Given the description of an element on the screen output the (x, y) to click on. 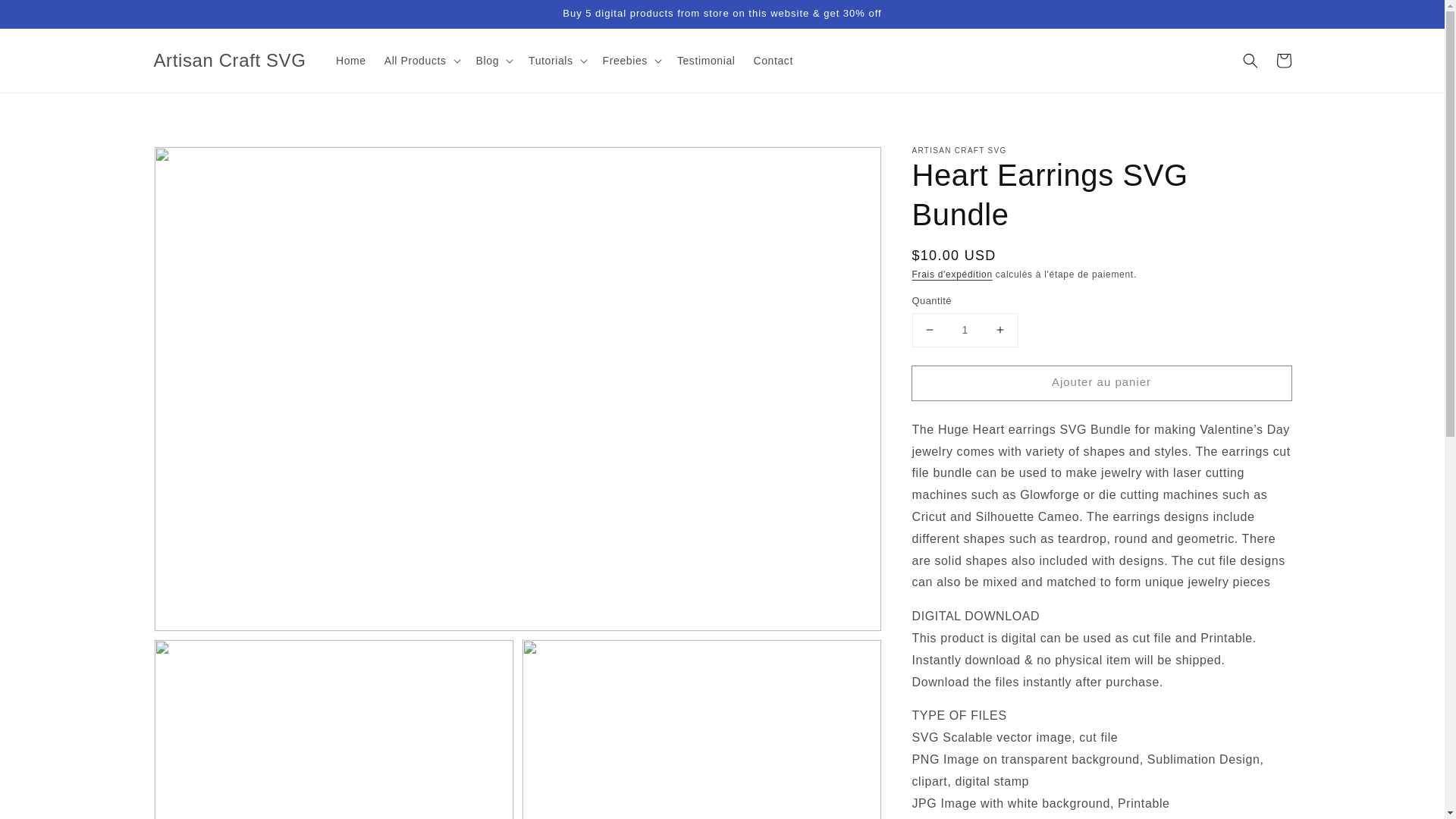
Ignorer et passer au contenu (45, 16)
1 (964, 329)
Home (350, 60)
Artisan Craft SVG (229, 60)
